Given the description of an element on the screen output the (x, y) to click on. 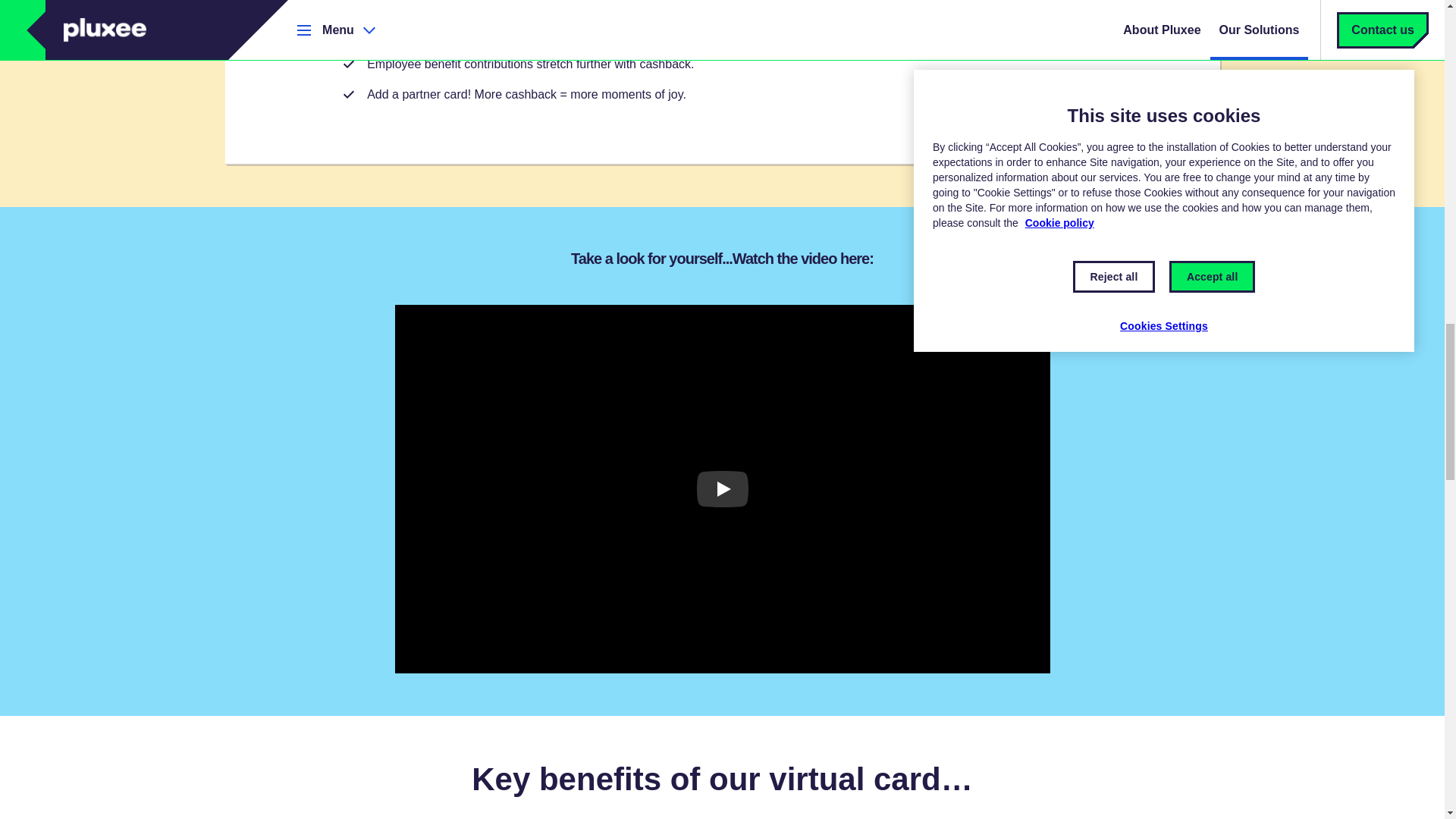
Play (721, 488)
